Given the description of an element on the screen output the (x, y) to click on. 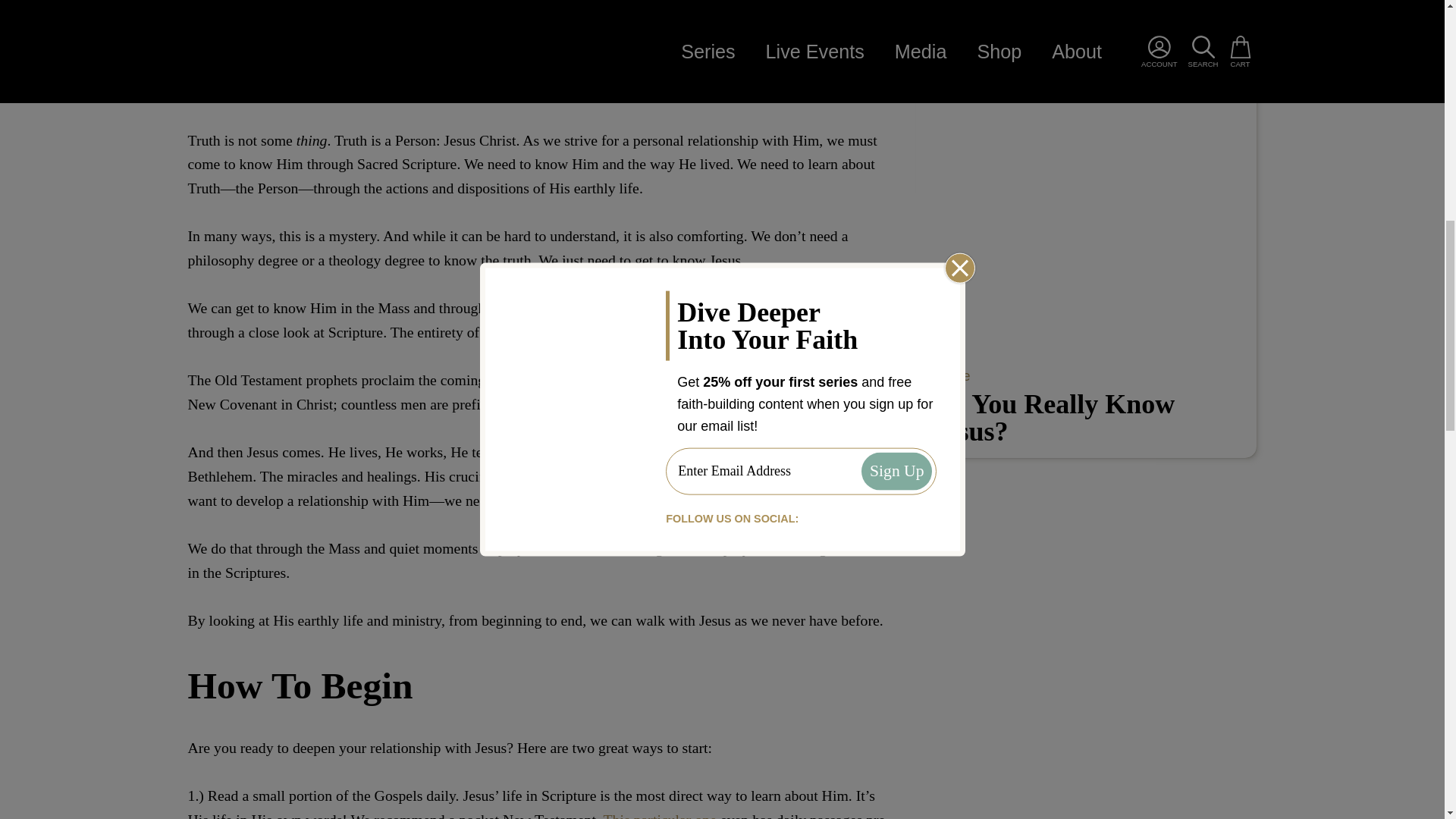
This particular one (660, 815)
